Given the description of an element on the screen output the (x, y) to click on. 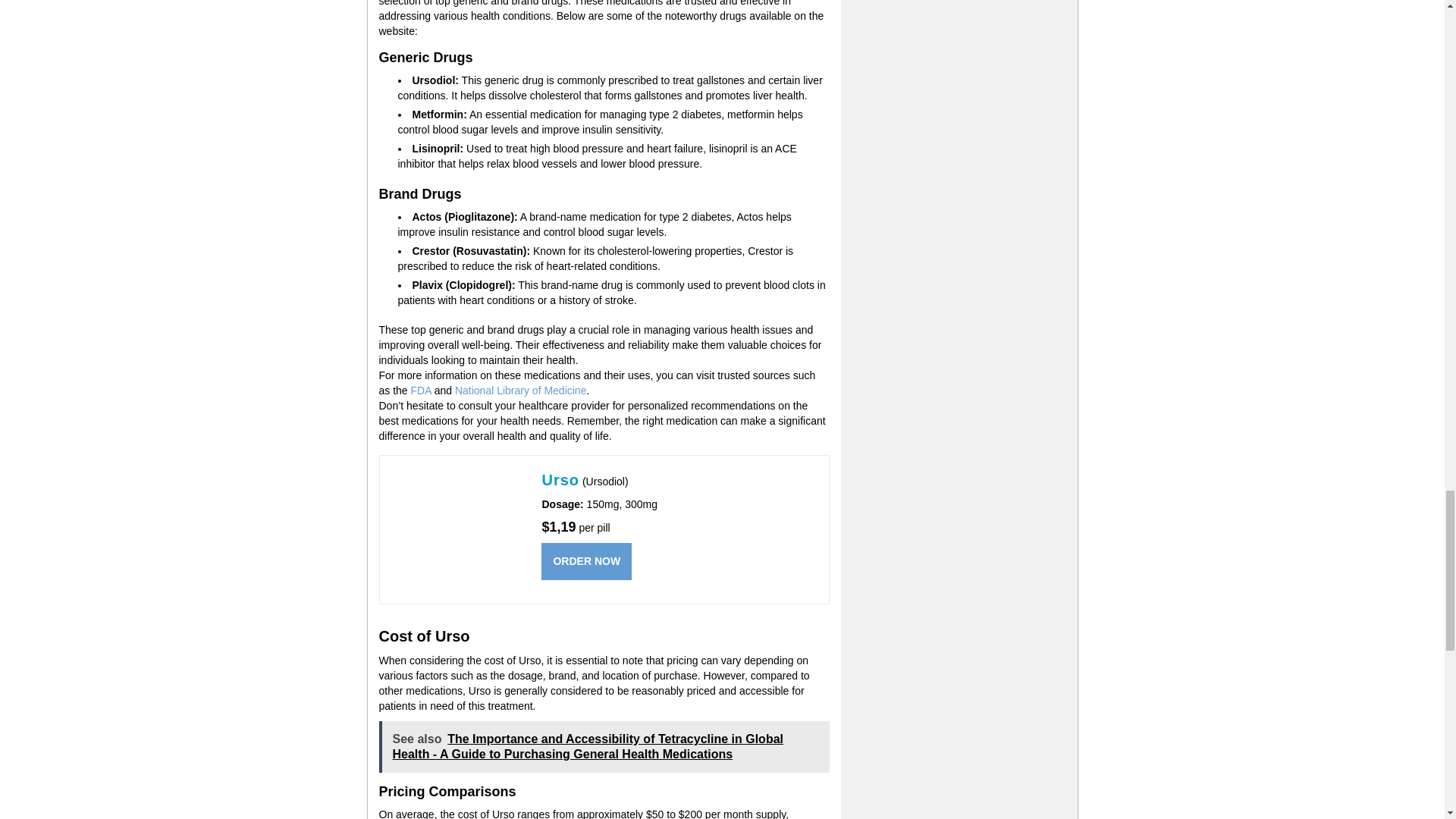
ORDER NOW (586, 560)
FDA (420, 390)
National Library of Medicine (520, 390)
